Given the description of an element on the screen output the (x, y) to click on. 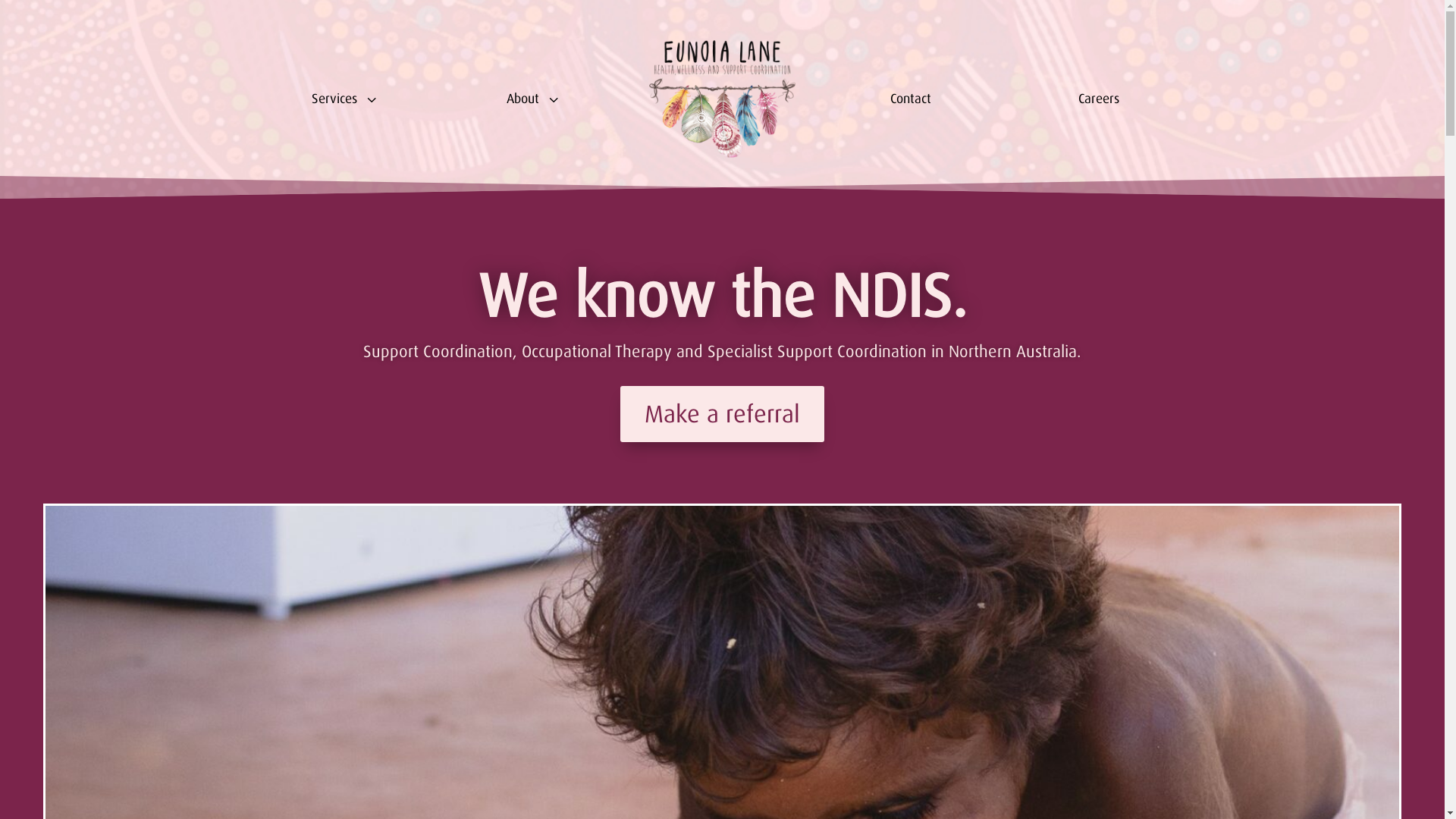
3
About Element type: text (533, 98)
Contact Element type: text (909, 99)
Careers Element type: text (1098, 99)
3
Services Element type: text (345, 98)
Make a referral Element type: text (722, 413)
